Given the description of an element on the screen output the (x, y) to click on. 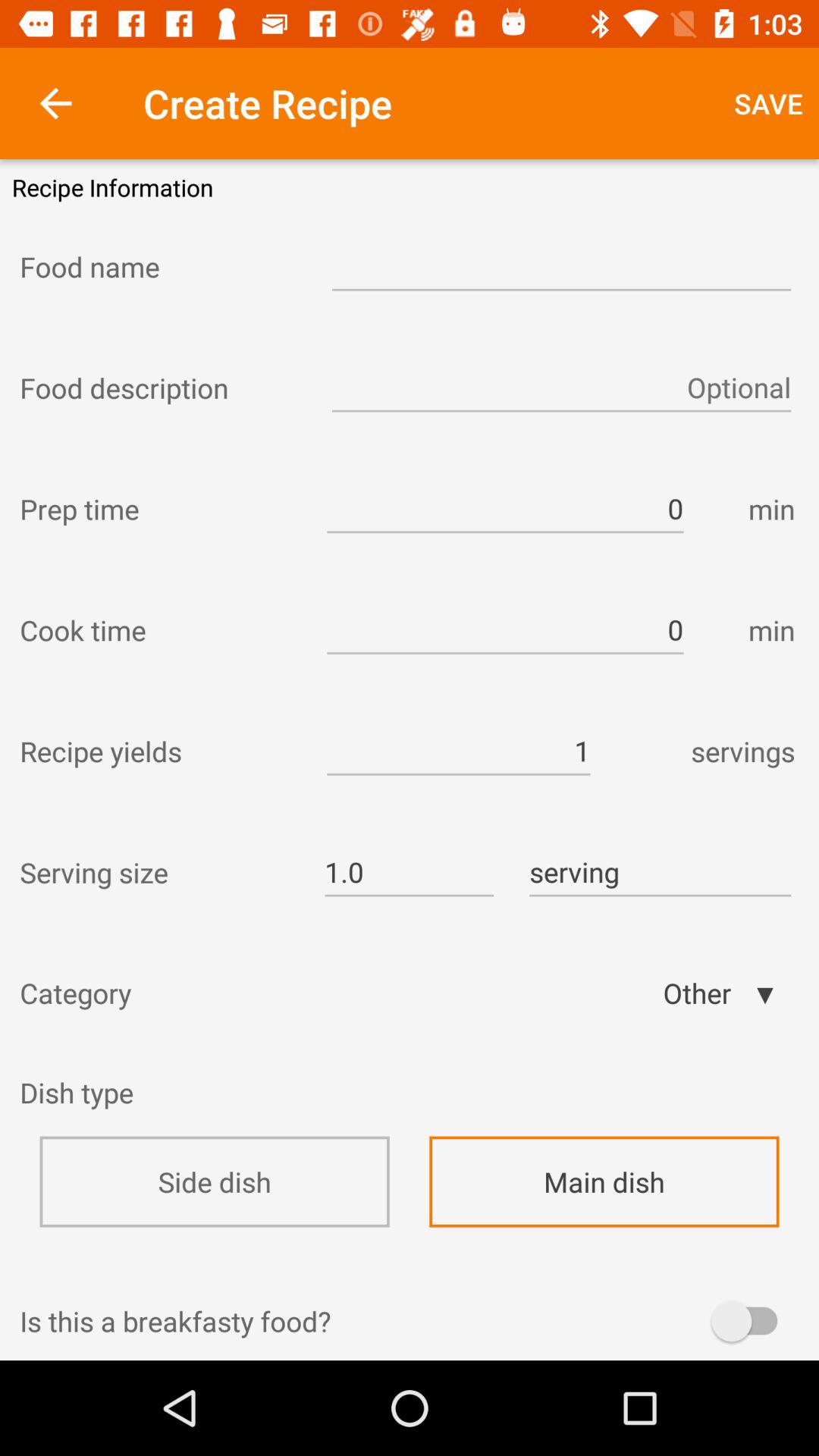
choose icon below dish type (214, 1181)
